Given the description of an element on the screen output the (x, y) to click on. 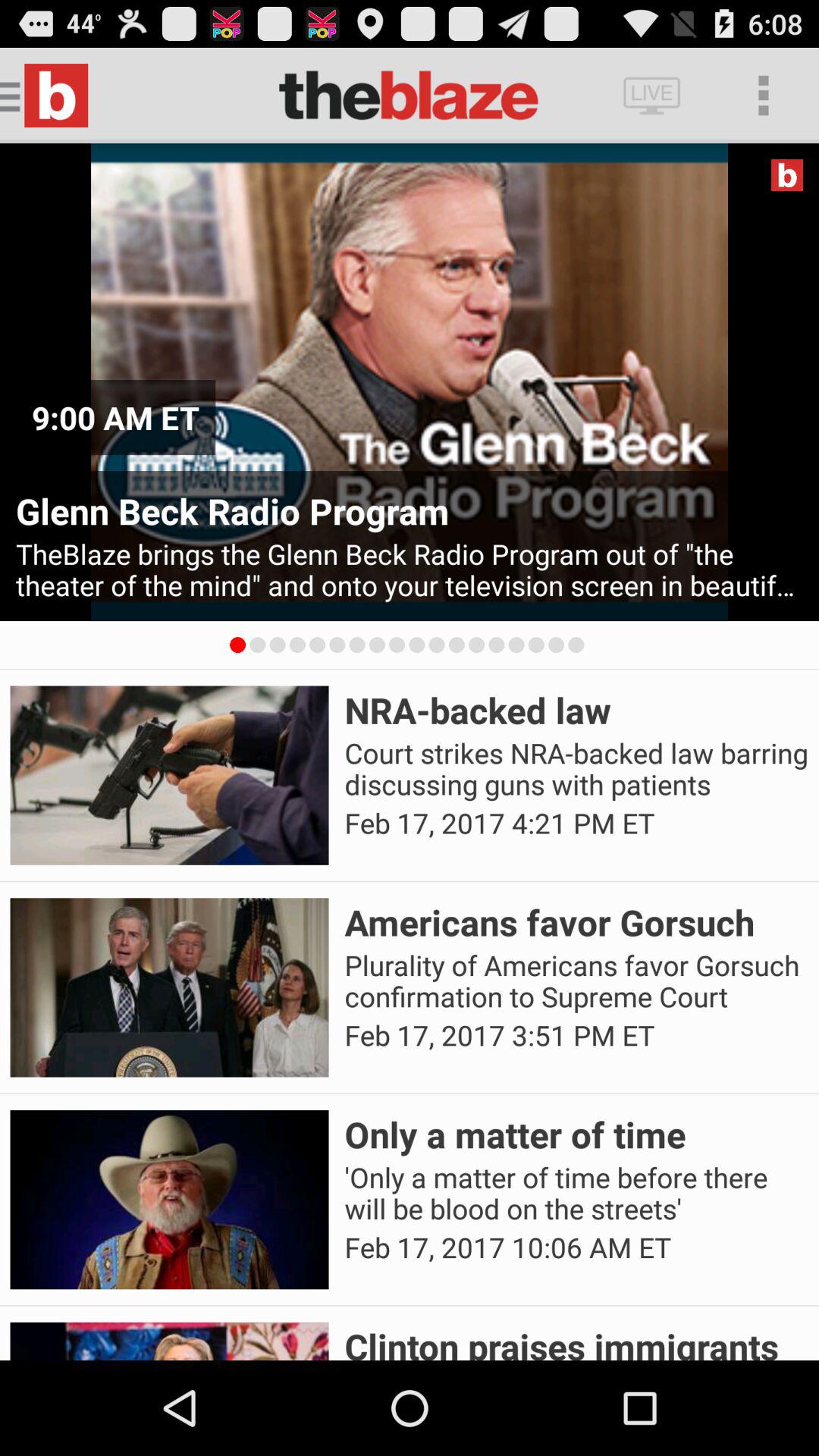
open 9 00 am icon (115, 417)
